Given the description of an element on the screen output the (x, y) to click on. 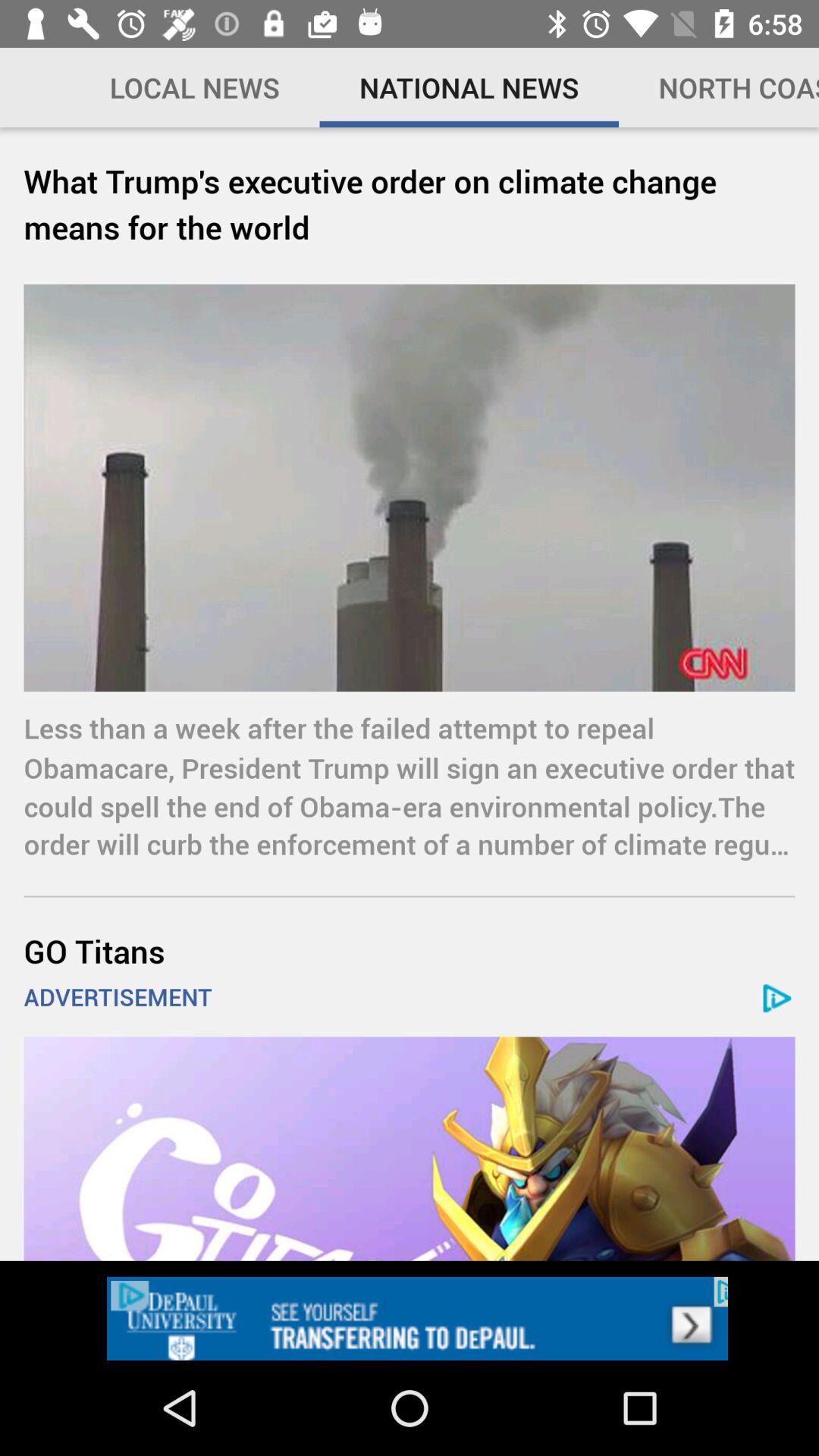
select the advertisement (409, 1148)
